Given the description of an element on the screen output the (x, y) to click on. 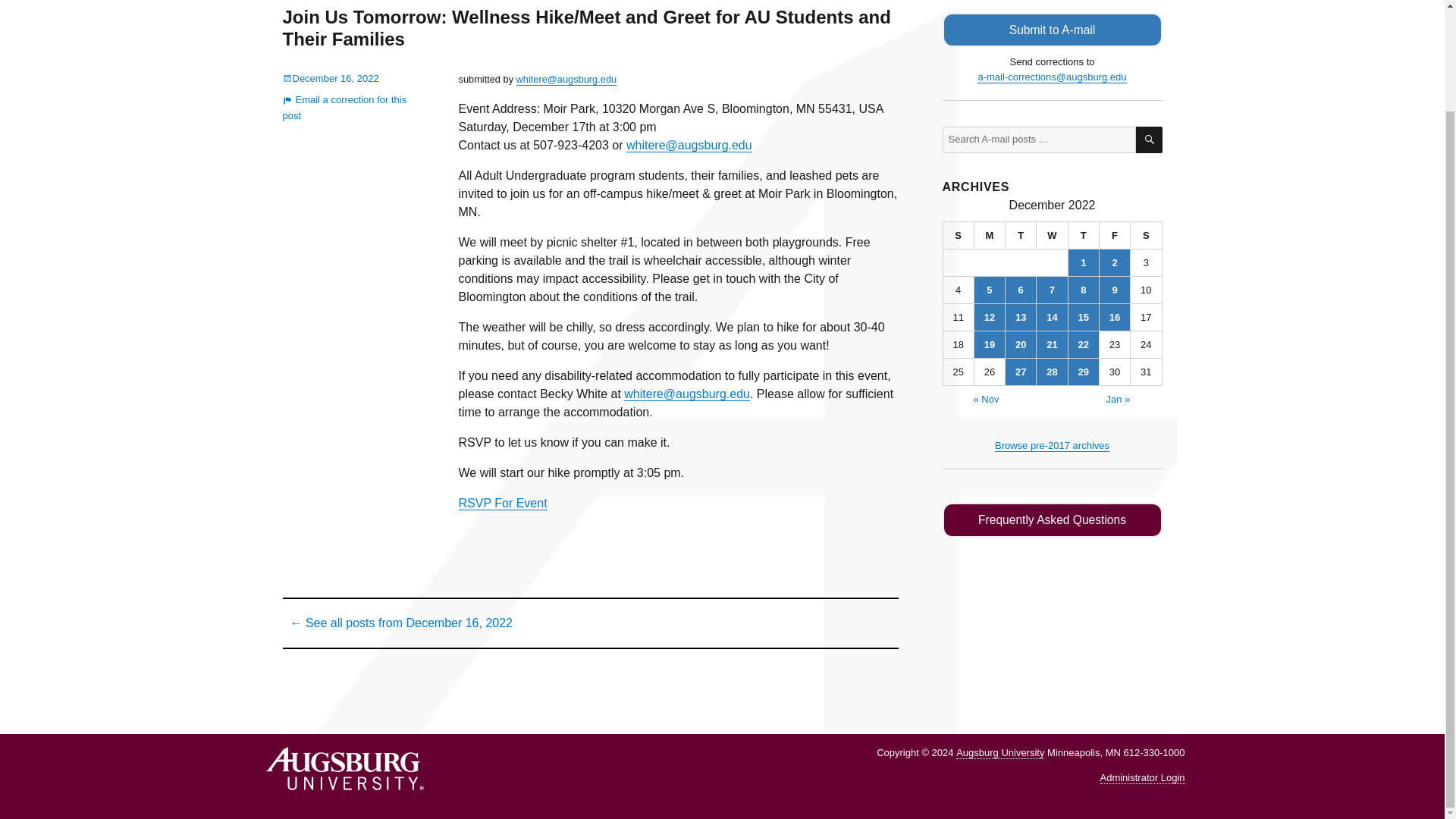
14 (1051, 316)
RSVP For Event (502, 502)
Augsburg University (999, 752)
15 (1083, 316)
Friday (1115, 235)
Browse pre-2017 archives (1051, 445)
Frequently Asked Questions (1051, 519)
Saturday (1146, 235)
13 (1020, 316)
20 (1020, 344)
